Given the description of an element on the screen output the (x, y) to click on. 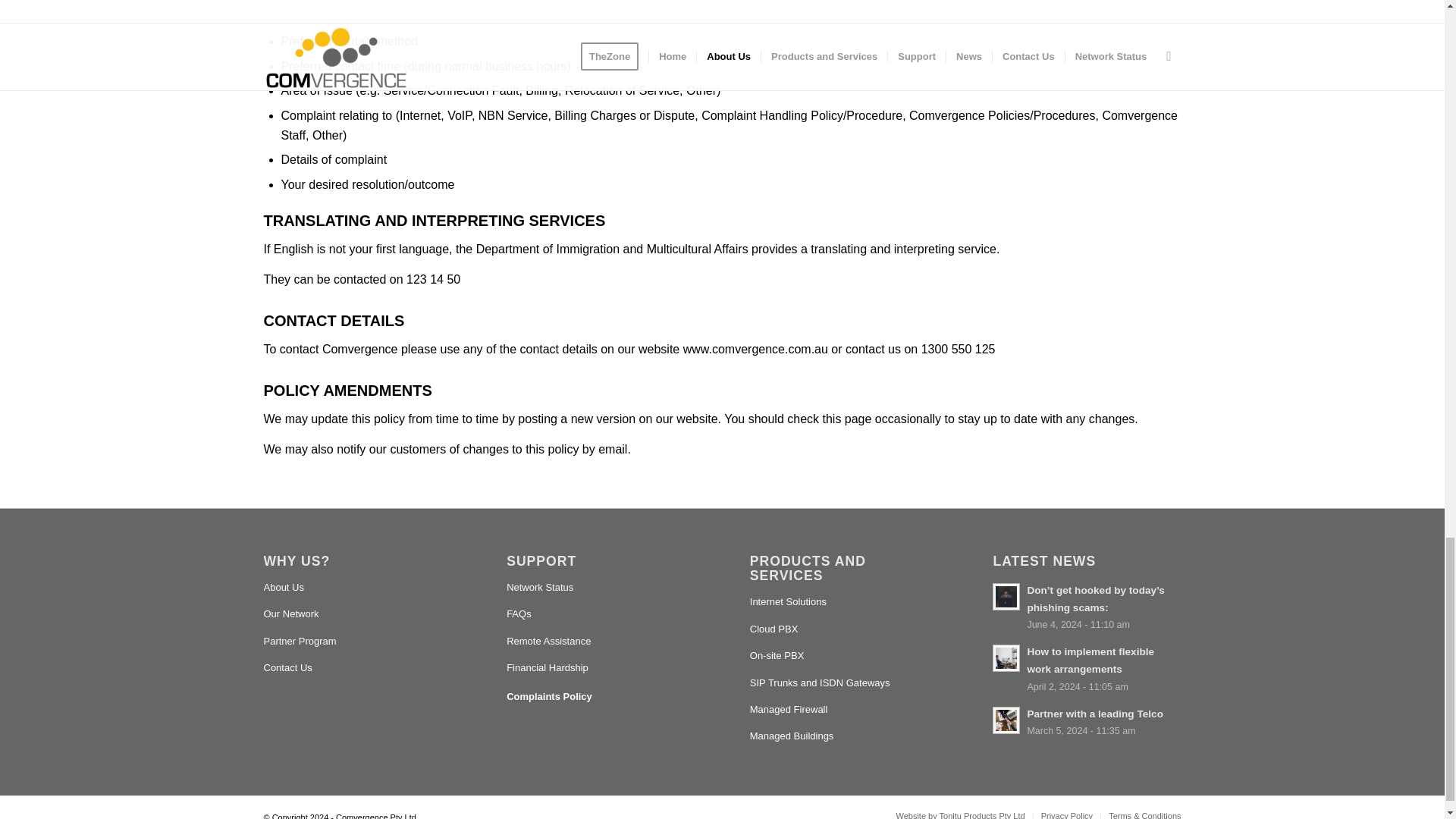
About Us (357, 587)
Contact Us (357, 668)
SIP Trunks and ISDN Gateways (843, 683)
FAQs (600, 614)
Partner Program (357, 641)
Complaints Policy (600, 696)
On-site PBX (843, 655)
Privacy Policy (1067, 815)
Internet Solutions (843, 601)
How to implement flexible work arrangements (1086, 668)
